Given the description of an element on the screen output the (x, y) to click on. 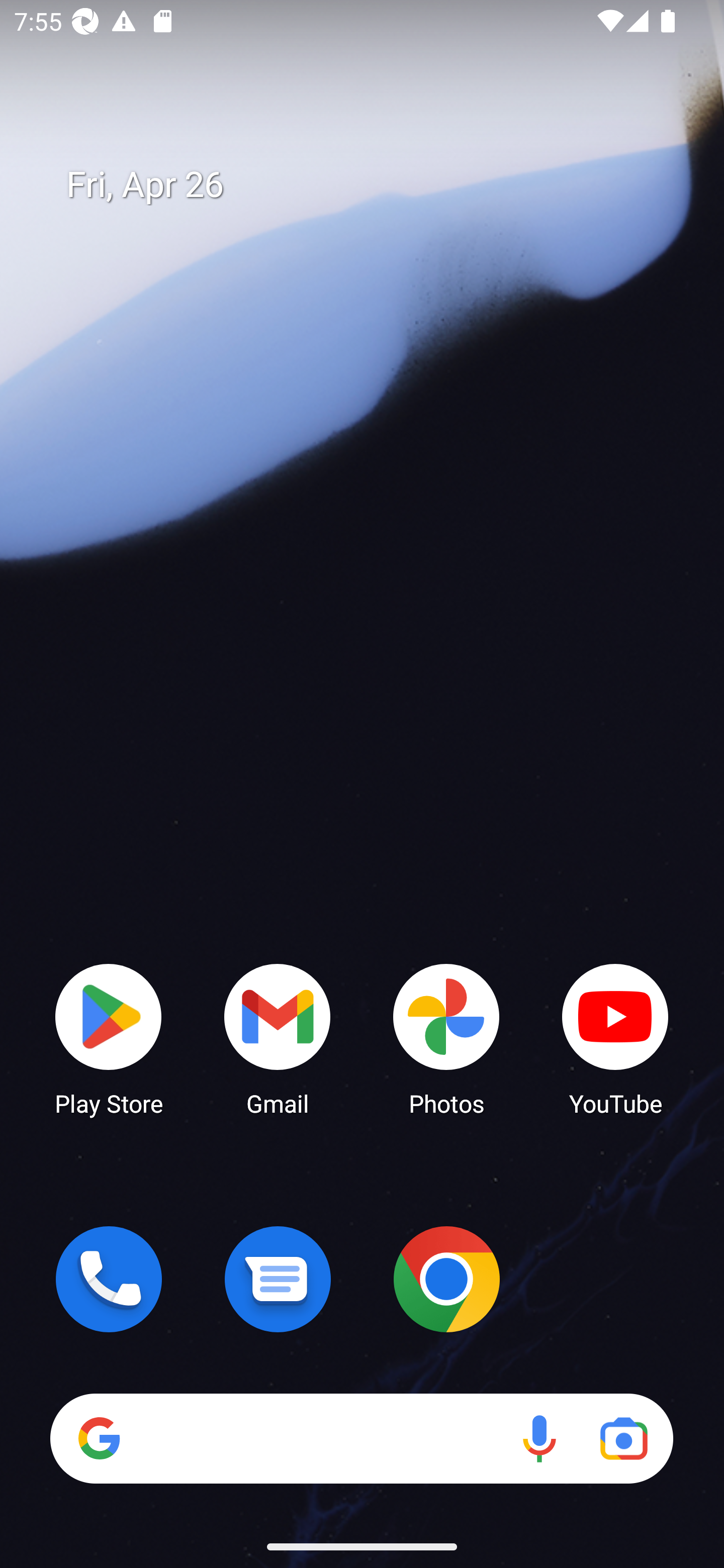
Fri, Apr 26 (375, 184)
Play Store (108, 1038)
Gmail (277, 1038)
Photos (445, 1038)
YouTube (615, 1038)
Phone (108, 1279)
Messages (277, 1279)
Chrome (446, 1279)
Search Voice search Google Lens (361, 1438)
Voice search (539, 1438)
Google Lens (623, 1438)
